Given the description of an element on the screen output the (x, y) to click on. 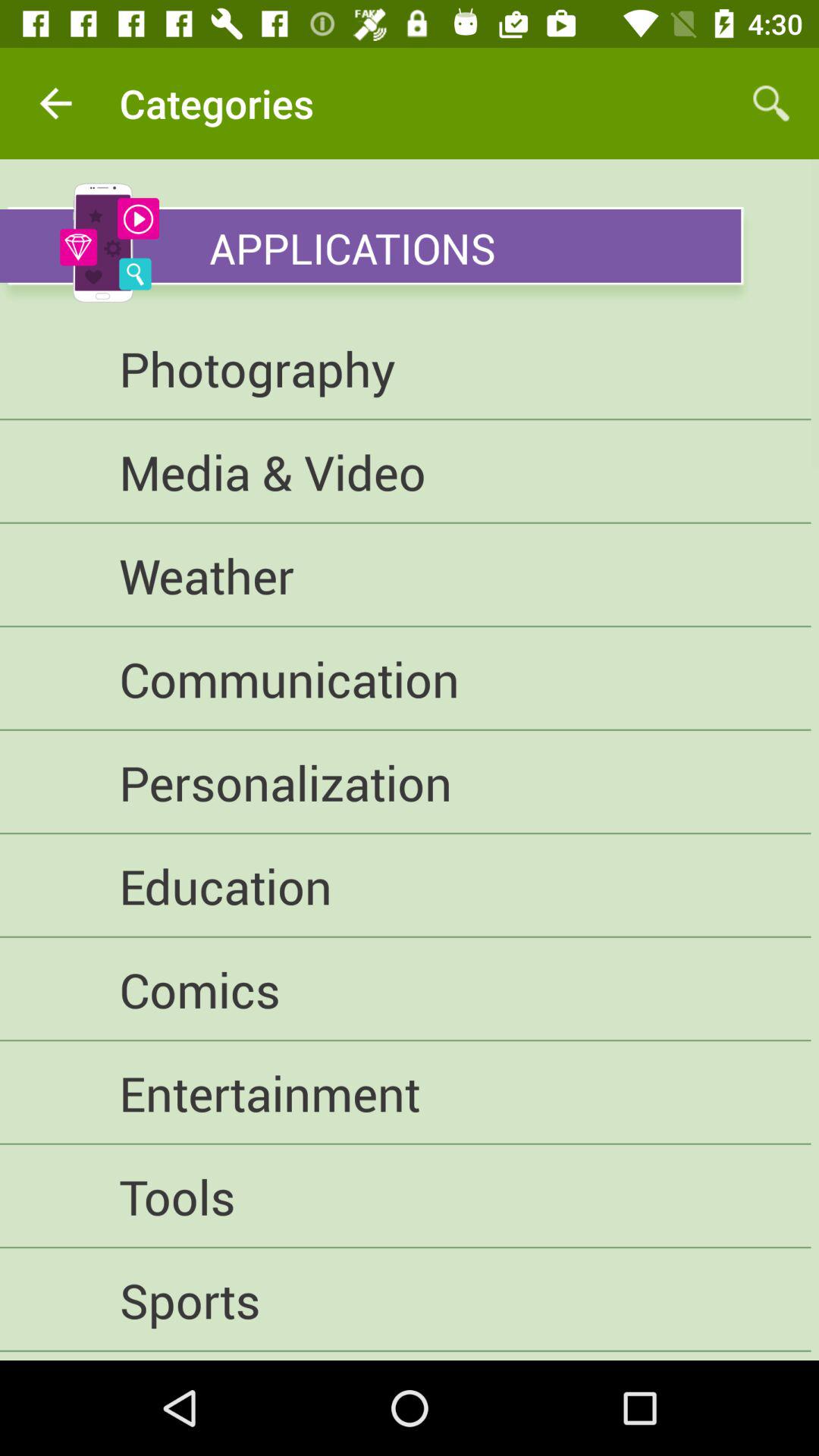
jump until the personalization (405, 782)
